Given the description of an element on the screen output the (x, y) to click on. 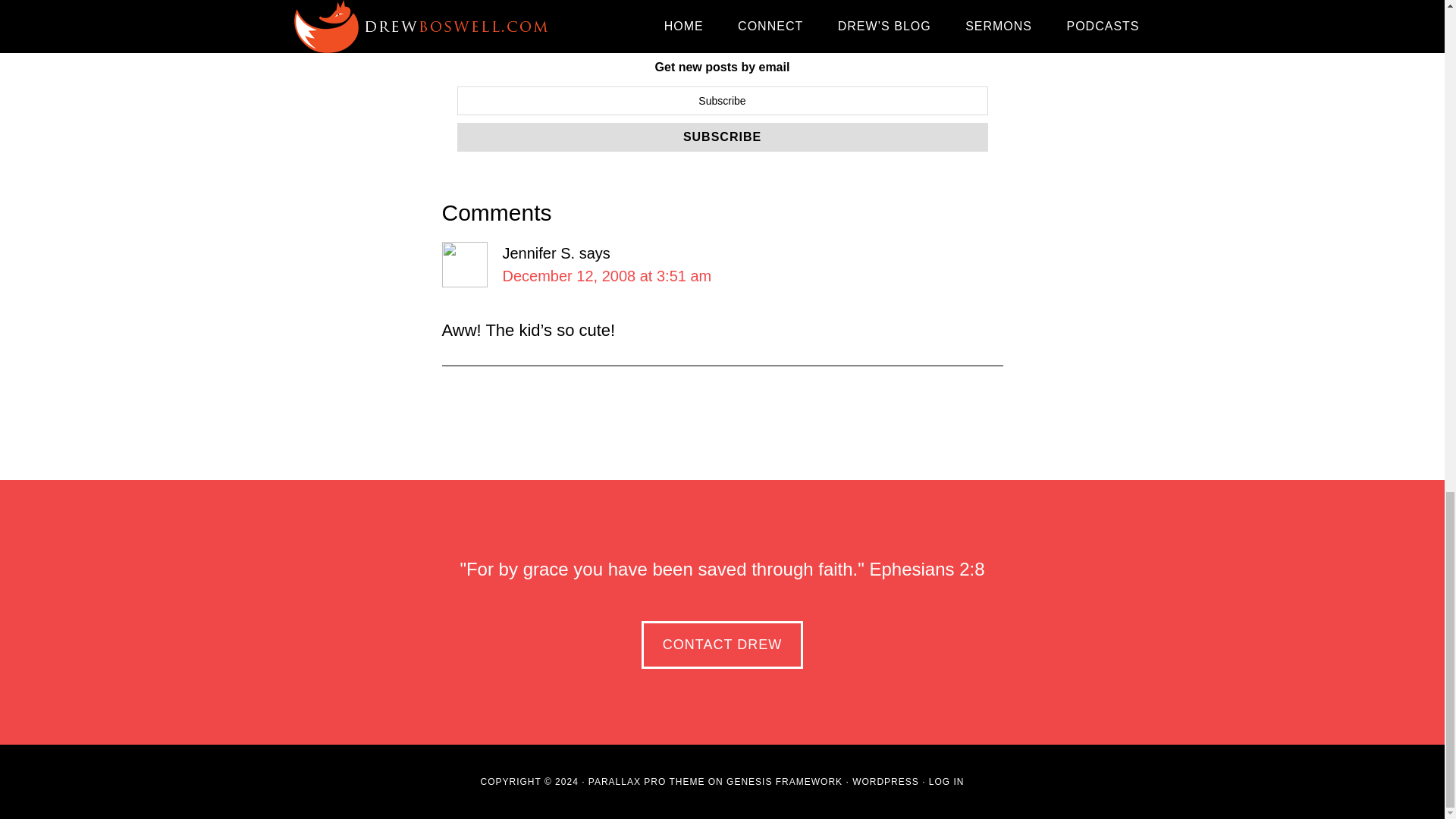
CONTACT DREW (722, 644)
Subscribe (722, 136)
Subscribe (722, 136)
WORDPRESS (884, 781)
GENESIS FRAMEWORK (784, 781)
December 12, 2008 at 3:51 am (606, 275)
PARALLAX PRO THEME (646, 781)
LOG IN (945, 781)
